Given the description of an element on the screen output the (x, y) to click on. 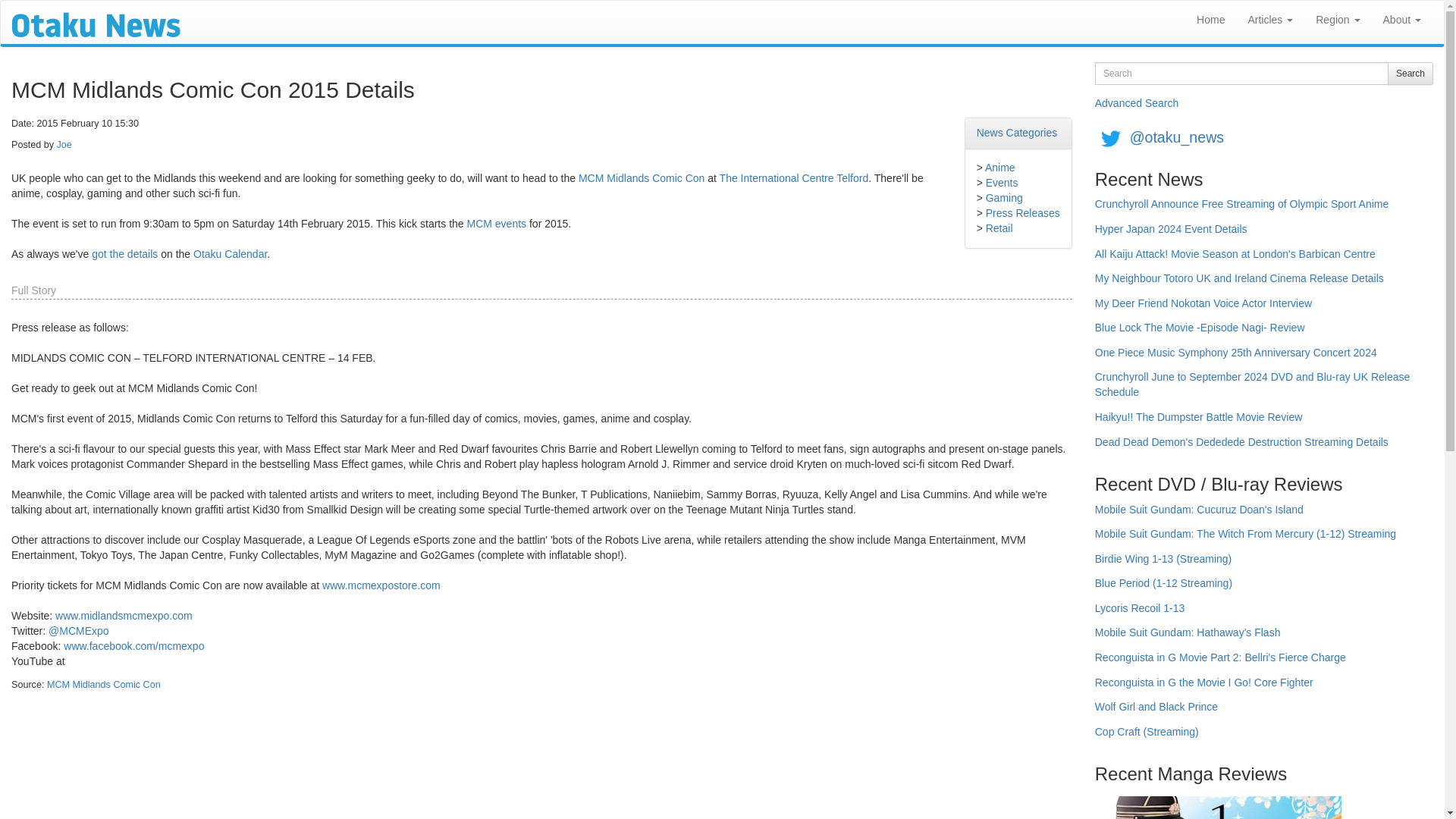
News Categories (1017, 132)
MCM events (495, 223)
Region (1337, 19)
Anime (999, 167)
Home (1210, 19)
www.mcmexpostore.com (381, 585)
Events (1001, 182)
MCM Midlands Comic Con (103, 684)
The International Centre Telford (794, 177)
Gaming (1004, 197)
Advanced Search (1136, 102)
Articles (1270, 19)
MCM Midlands Comic Con (641, 177)
Otaku Calendar (229, 254)
Search (1409, 73)
